Given the description of an element on the screen output the (x, y) to click on. 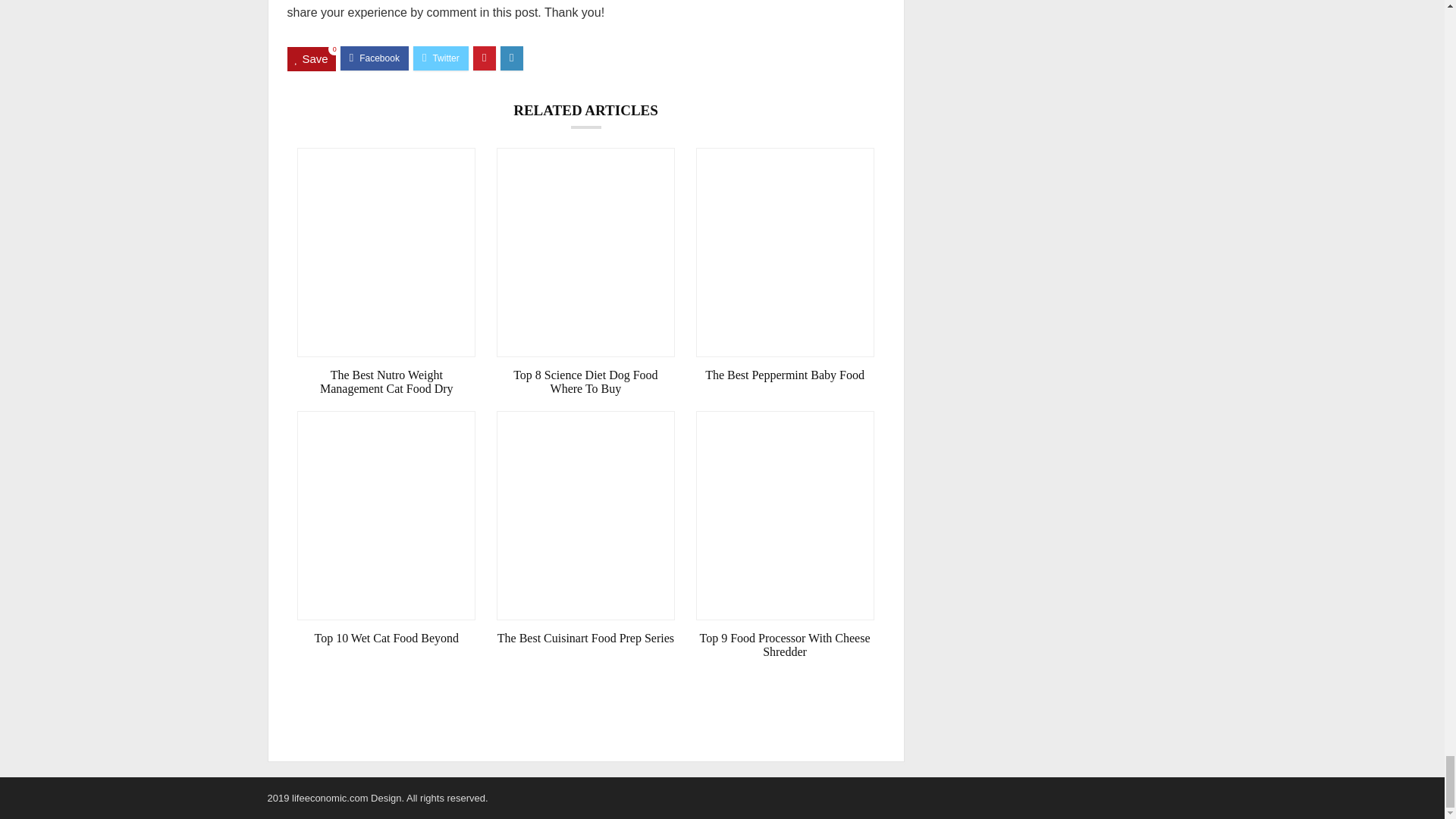
Top 8 Science Diet Dog Food Where To Buy (585, 381)
Top 10 Wet Cat Food Beyond (386, 638)
The Best Peppermint Baby Food (785, 375)
The Best Cuisinart Food Prep Series (585, 638)
The Best Nutro Weight Management Cat Food Dry (386, 381)
Top 9 Food Processor With Cheese Shredder (785, 645)
